Given the description of an element on the screen output the (x, y) to click on. 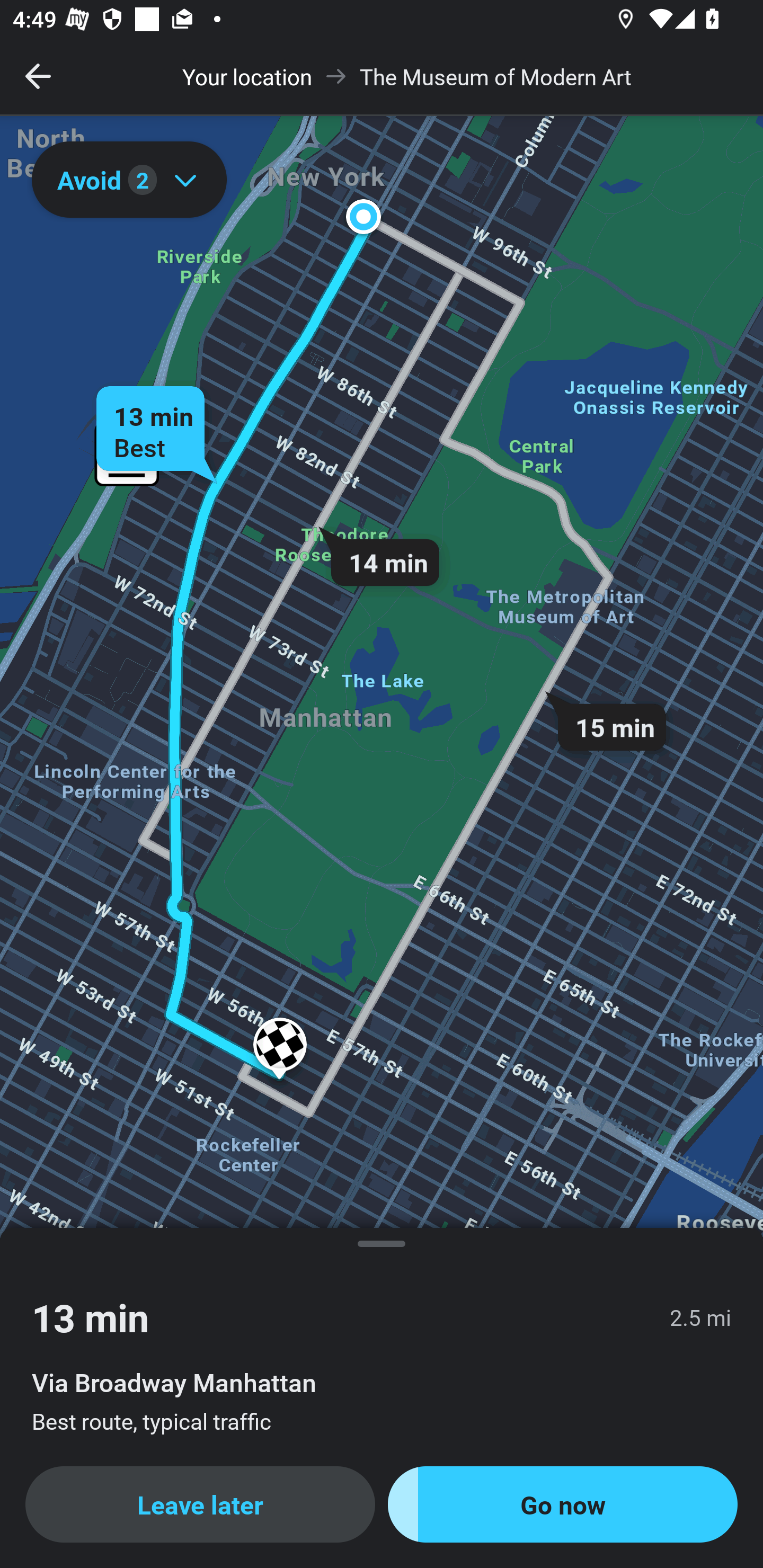
Leave later (200, 1504)
Go now (562, 1504)
